Given the description of an element on the screen output the (x, y) to click on. 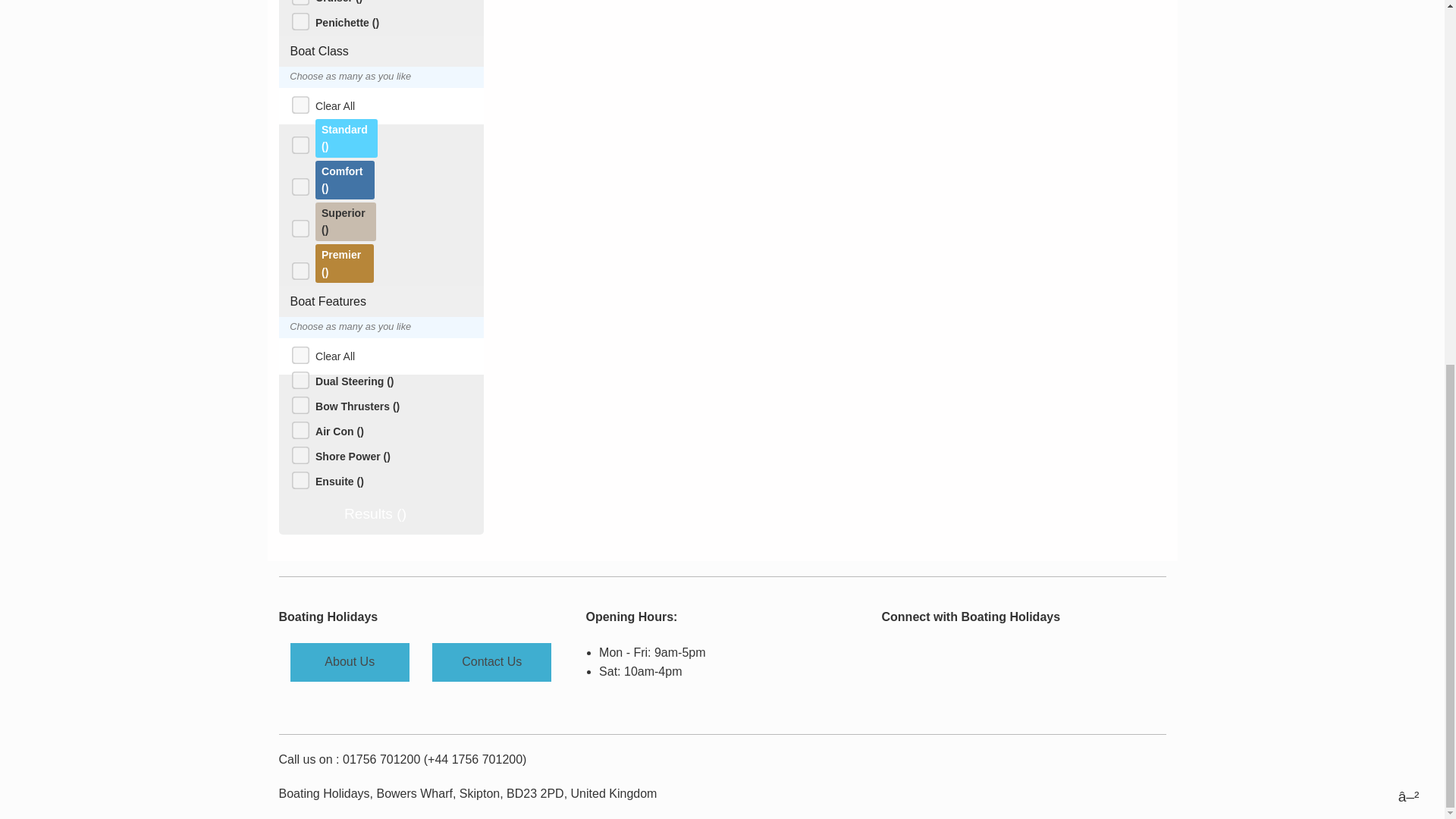
on (296, 141)
on (296, 375)
The ability to hook up to a shore power supply (352, 456)
on (296, 225)
on (296, 266)
Inside and Outside steering positions (354, 381)
Air Conditioning (339, 431)
on (296, 350)
Bow Thrusters make manoeuvring easier (356, 406)
on (296, 17)
